Given the description of an element on the screen output the (x, y) to click on. 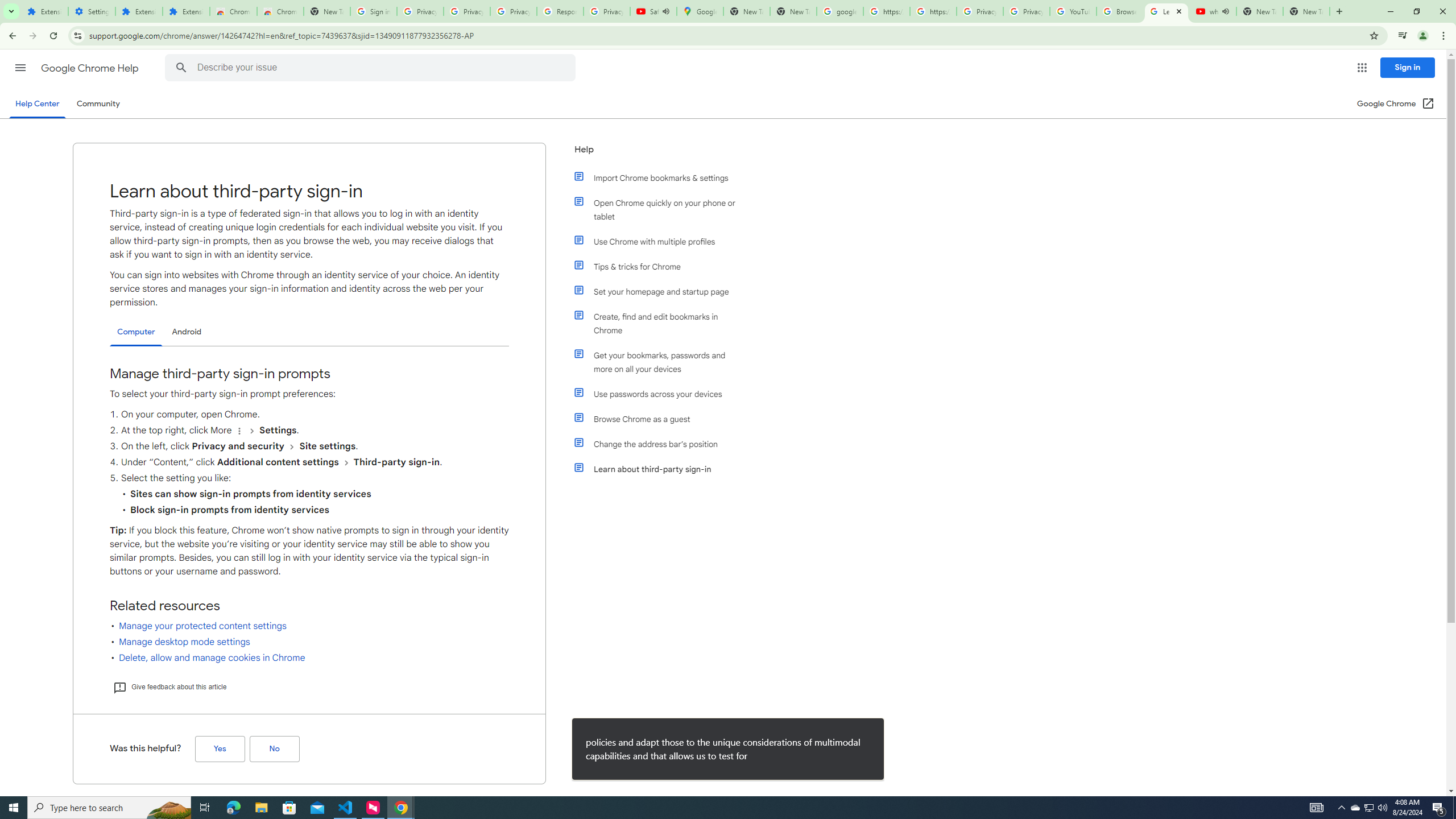
https://scholar.google.com/ (886, 11)
Manage desktop mode settings (184, 641)
Chrome Web Store - Themes (279, 11)
Delete, allow and manage cookies in Chrome (212, 657)
Set your homepage and startup page (661, 291)
Manage your protected content settings (202, 626)
Create, find and edit bookmarks in Chrome (661, 323)
Use Chrome with multiple profiles (661, 241)
Use passwords across your devices (661, 394)
